Given the description of an element on the screen output the (x, y) to click on. 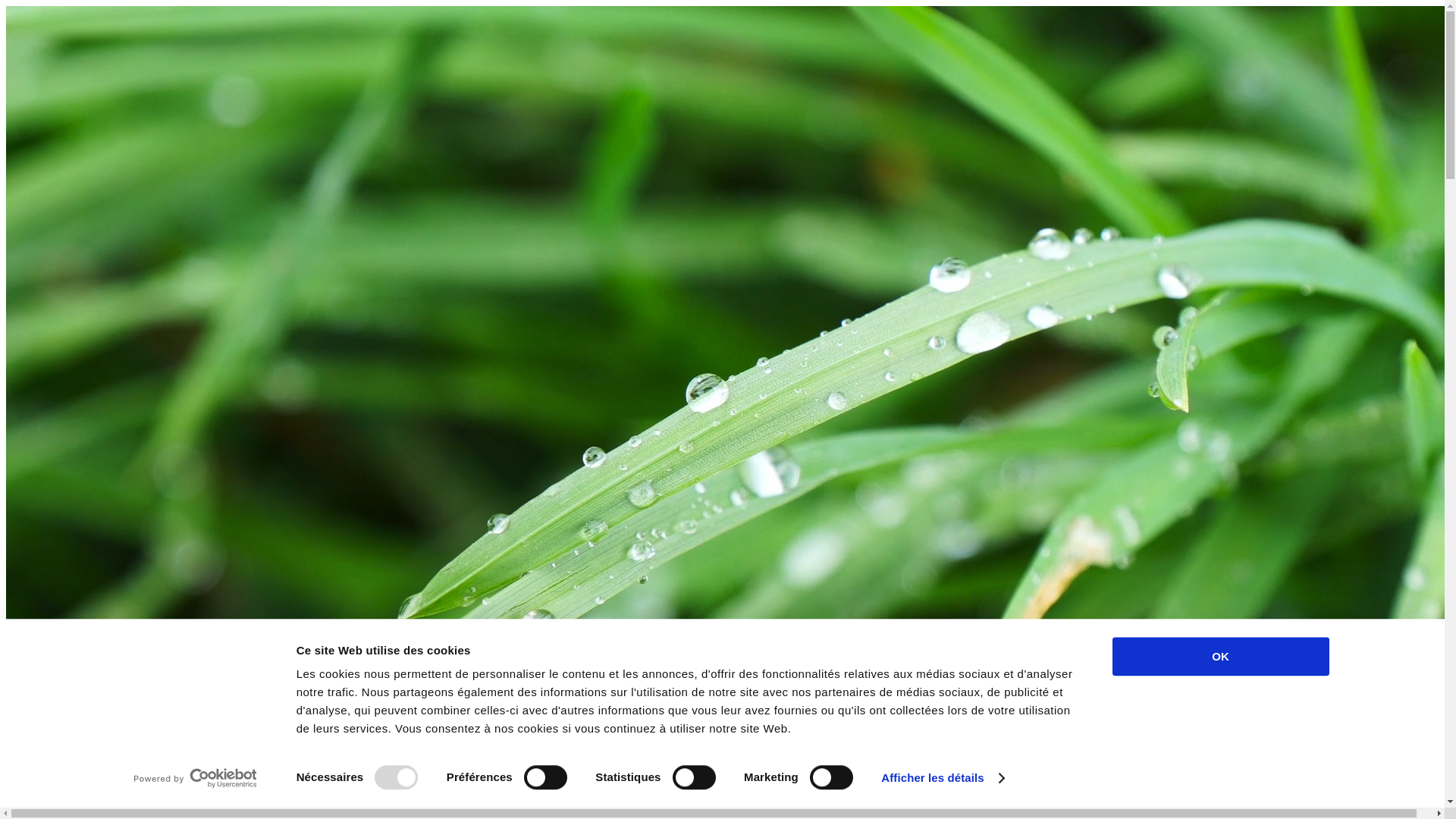
OK Element type: text (1219, 656)
Aller au contenu principal Element type: text (6, 6)
